Given the description of an element on the screen output the (x, y) to click on. 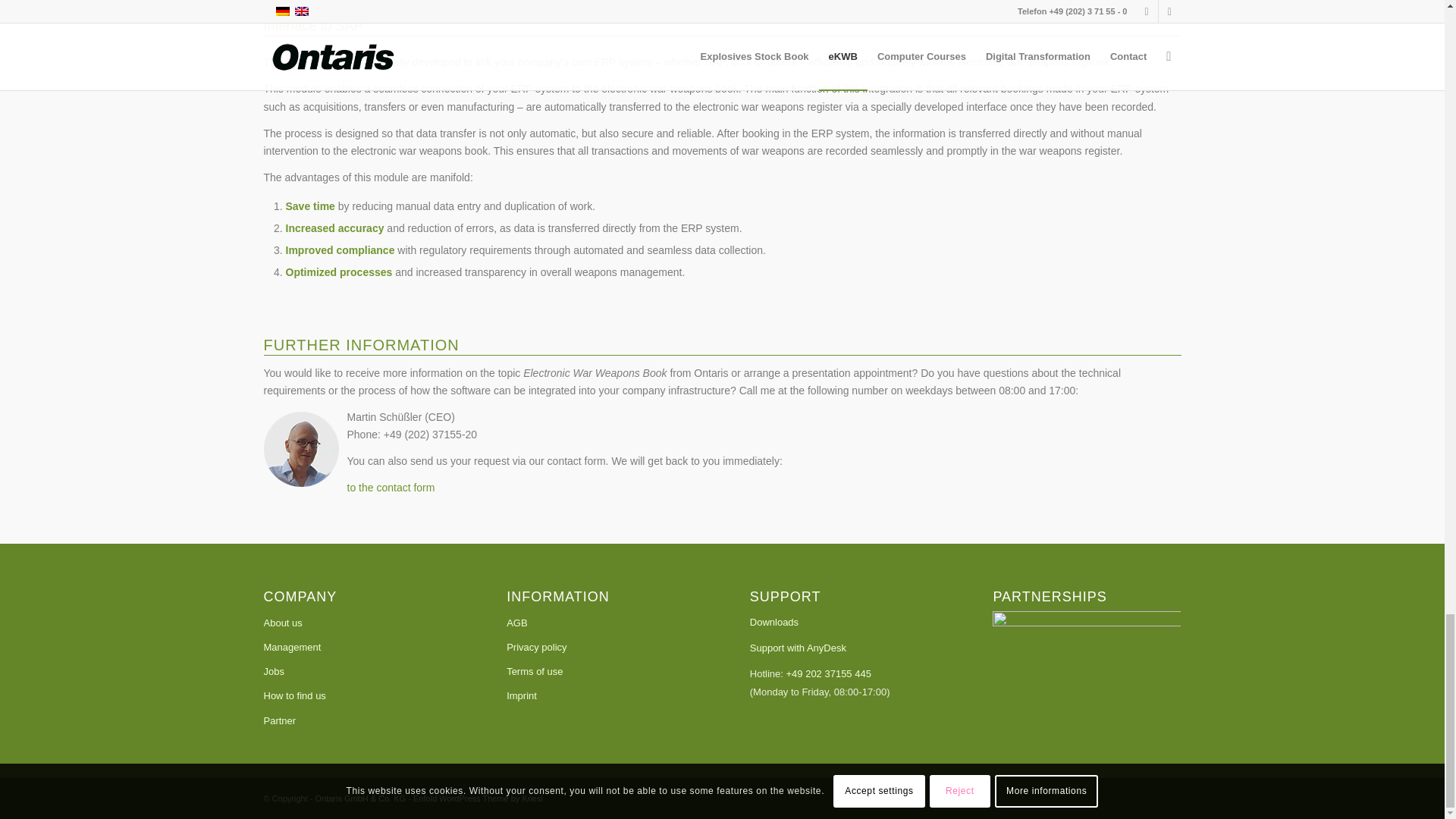
to the contact form (391, 487)
Management (357, 647)
About us (357, 622)
